Given the description of an element on the screen output the (x, y) to click on. 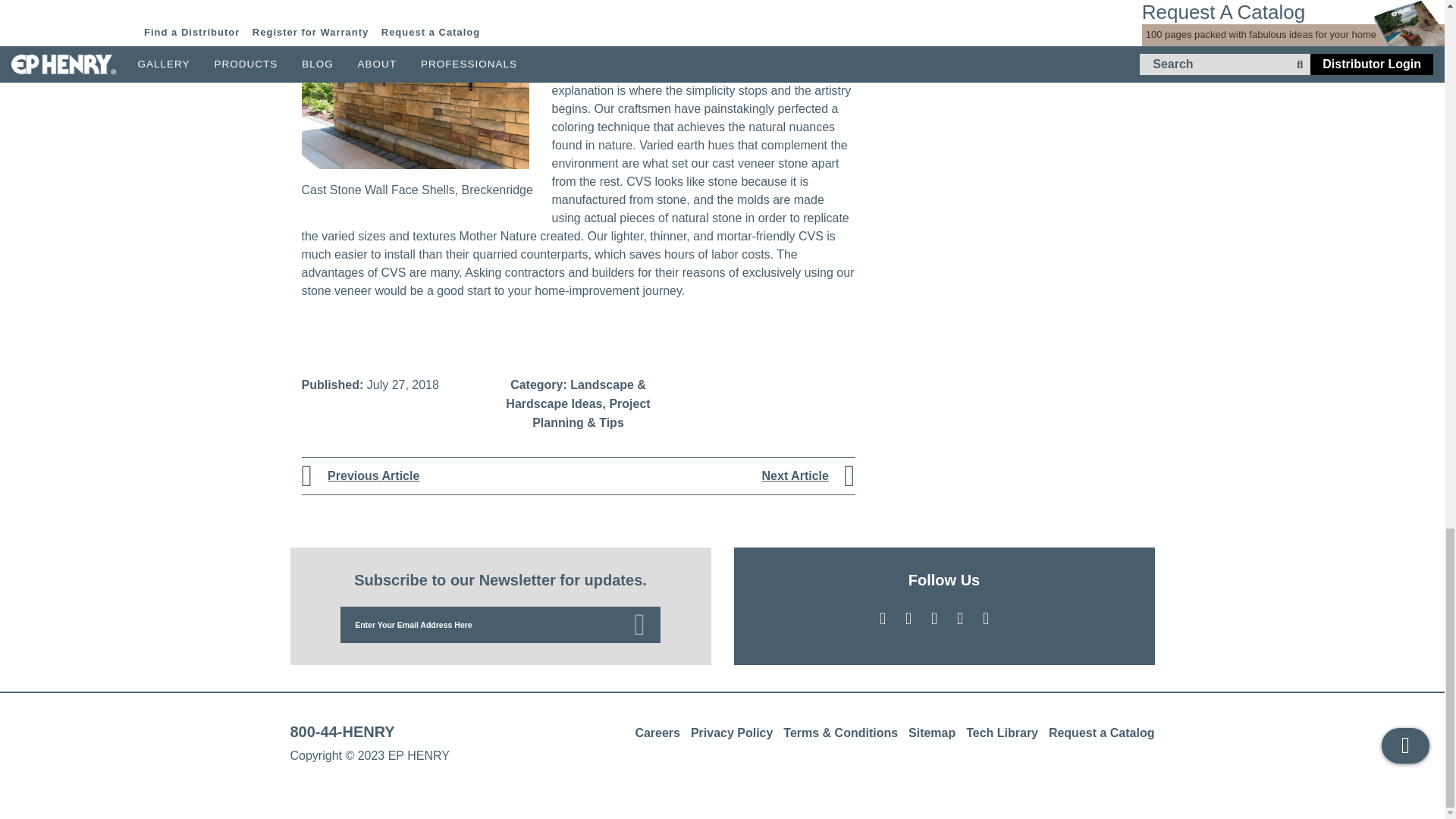
Submit (636, 624)
